Given the description of an element on the screen output the (x, y) to click on. 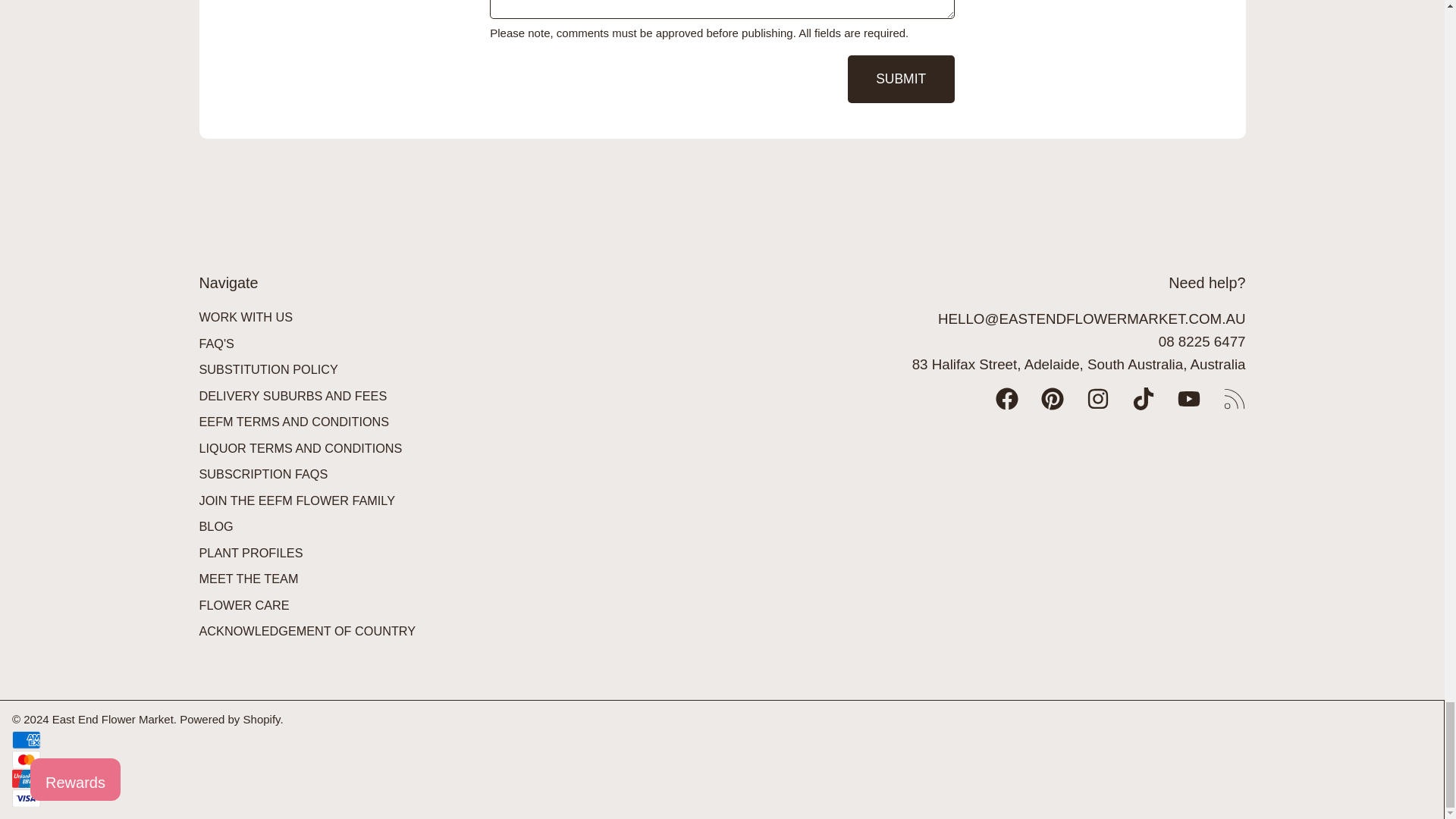
Union Pay (25, 778)
American Express (25, 740)
Visa (25, 798)
Mastercard (25, 760)
